Given the description of an element on the screen output the (x, y) to click on. 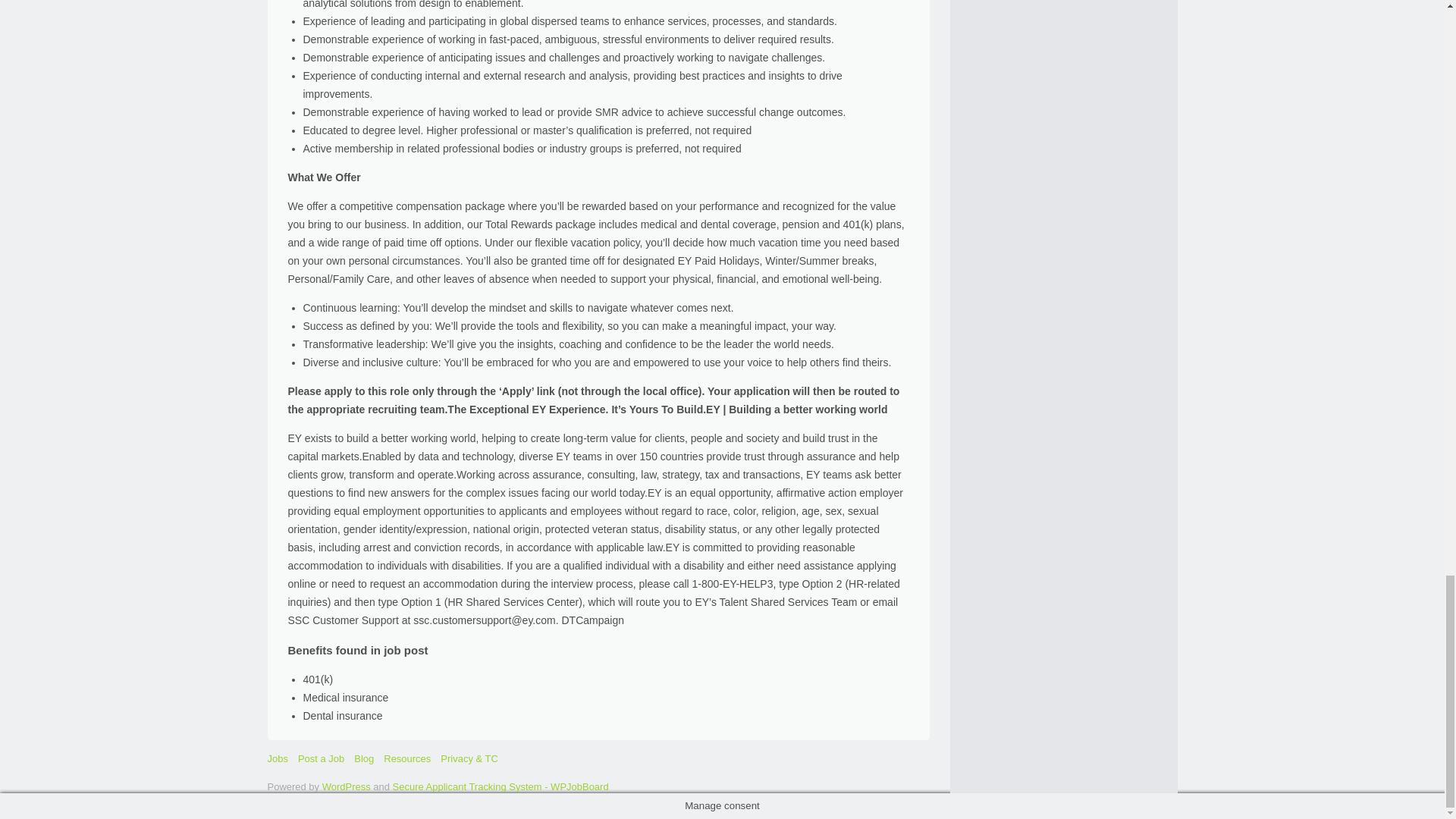
Post a Job (320, 758)
Secure Applicant Tracking System - WPJobBoard (500, 786)
Blog (363, 758)
WordPress (346, 786)
Jobs (276, 758)
Resources (407, 758)
